Given the description of an element on the screen output the (x, y) to click on. 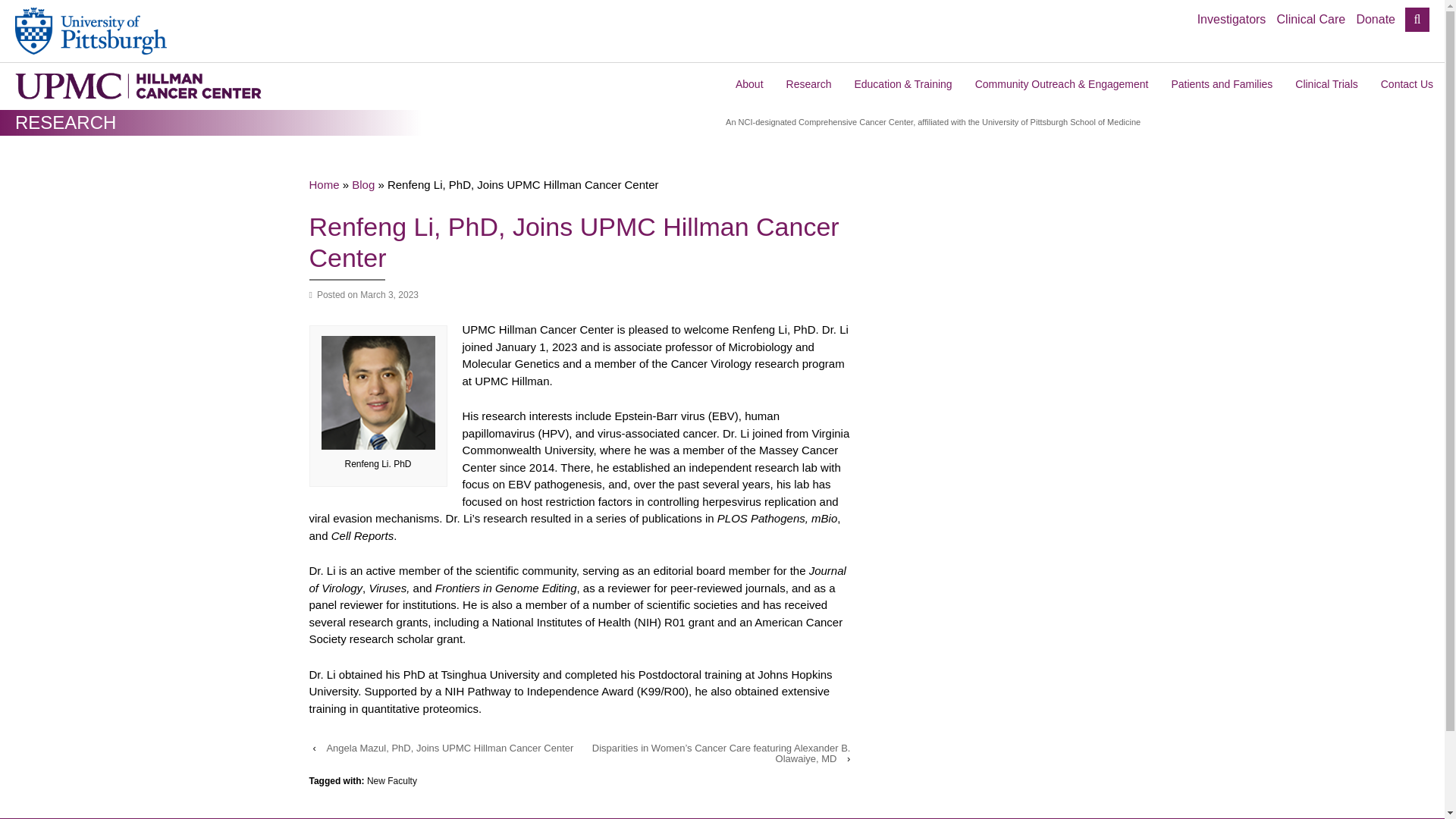
Clinical Care (1310, 19)
Research (808, 87)
Go (1406, 19)
Donate (1375, 19)
Investigators (1231, 19)
About (748, 87)
